Given the description of an element on the screen output the (x, y) to click on. 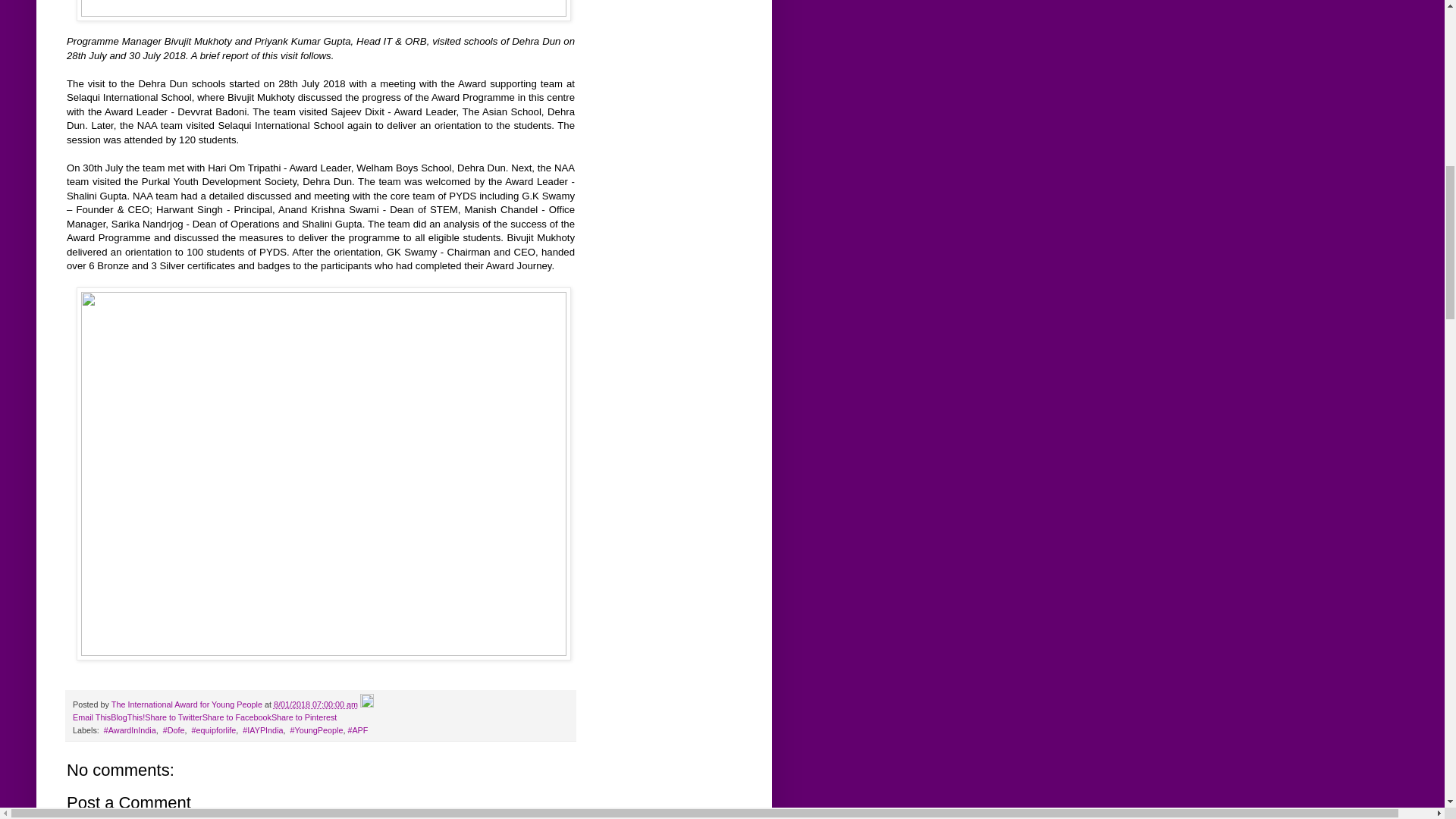
Share to Twitter (173, 716)
Email This (91, 716)
Share to Facebook (236, 716)
Share to Pinterest (303, 716)
Share to Facebook (236, 716)
BlogThis! (127, 716)
Edit Post (366, 704)
Share to Pinterest (303, 716)
BlogThis! (127, 716)
The International Award for Young People (188, 704)
permanent link (315, 704)
Share to Twitter (173, 716)
author profile (188, 704)
Email This (91, 716)
